Given the description of an element on the screen output the (x, y) to click on. 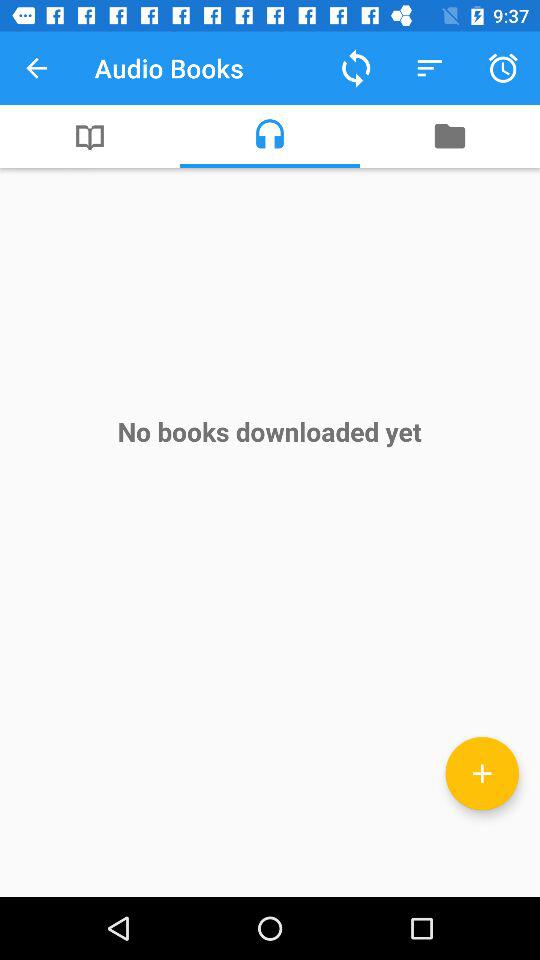
press the icon next to the audio books (356, 67)
